Given the description of an element on the screen output the (x, y) to click on. 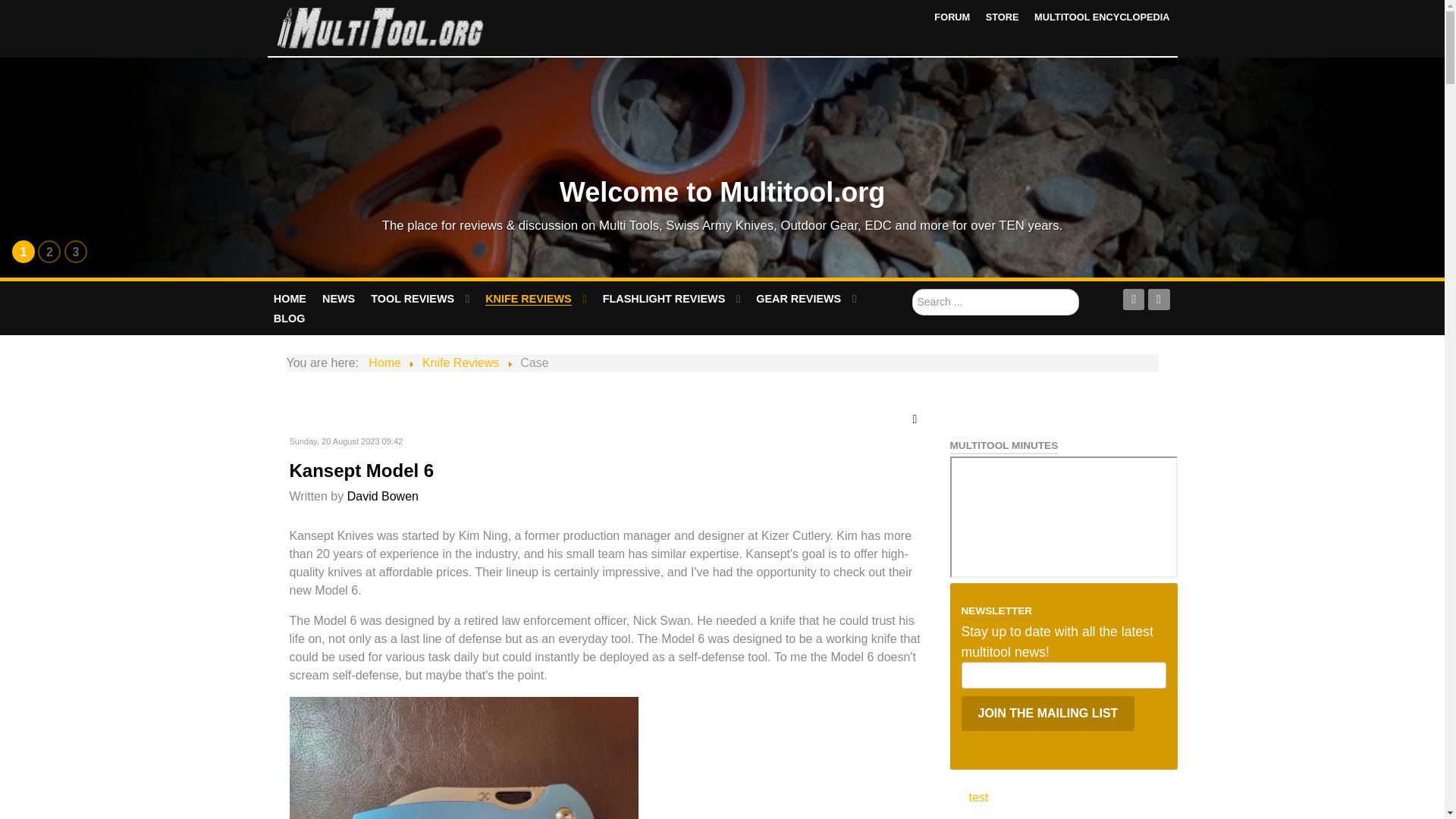
FORUM (951, 16)
Multitool Encyclopedia (1101, 16)
Forum (951, 16)
HOME (289, 298)
Email Address... (1063, 674)
MULTITOOL ENCYCLOPEDIA (1101, 16)
STORE (1002, 16)
TOOL REVIEWS (420, 298)
Subscribe to this RSS feed (918, 419)
Store (1002, 16)
NEWS (339, 298)
